Given the description of an element on the screen output the (x, y) to click on. 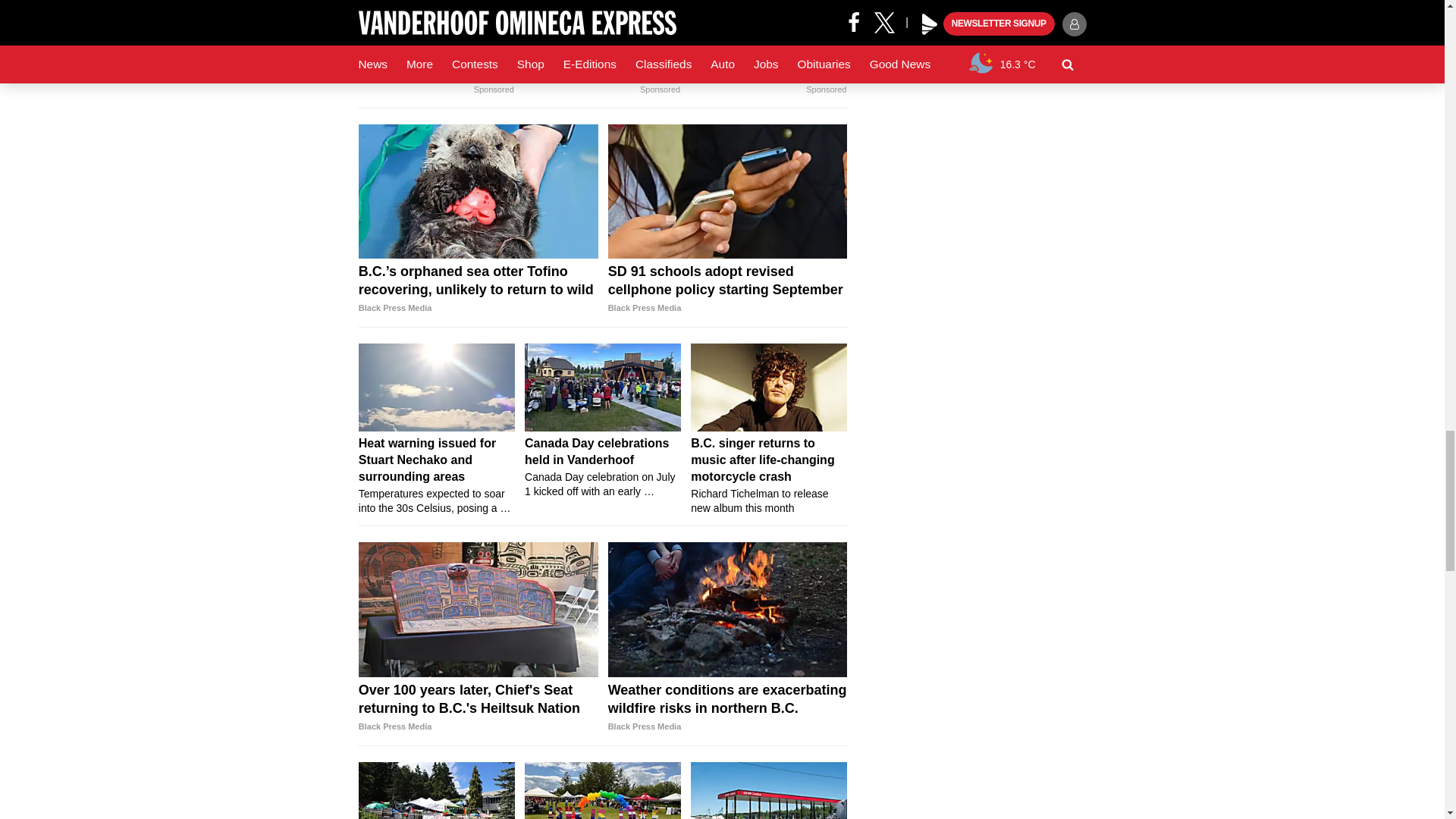
Work From Home Jobs In The USA May Pay More Than You Think (436, 14)
